Given the description of an element on the screen output the (x, y) to click on. 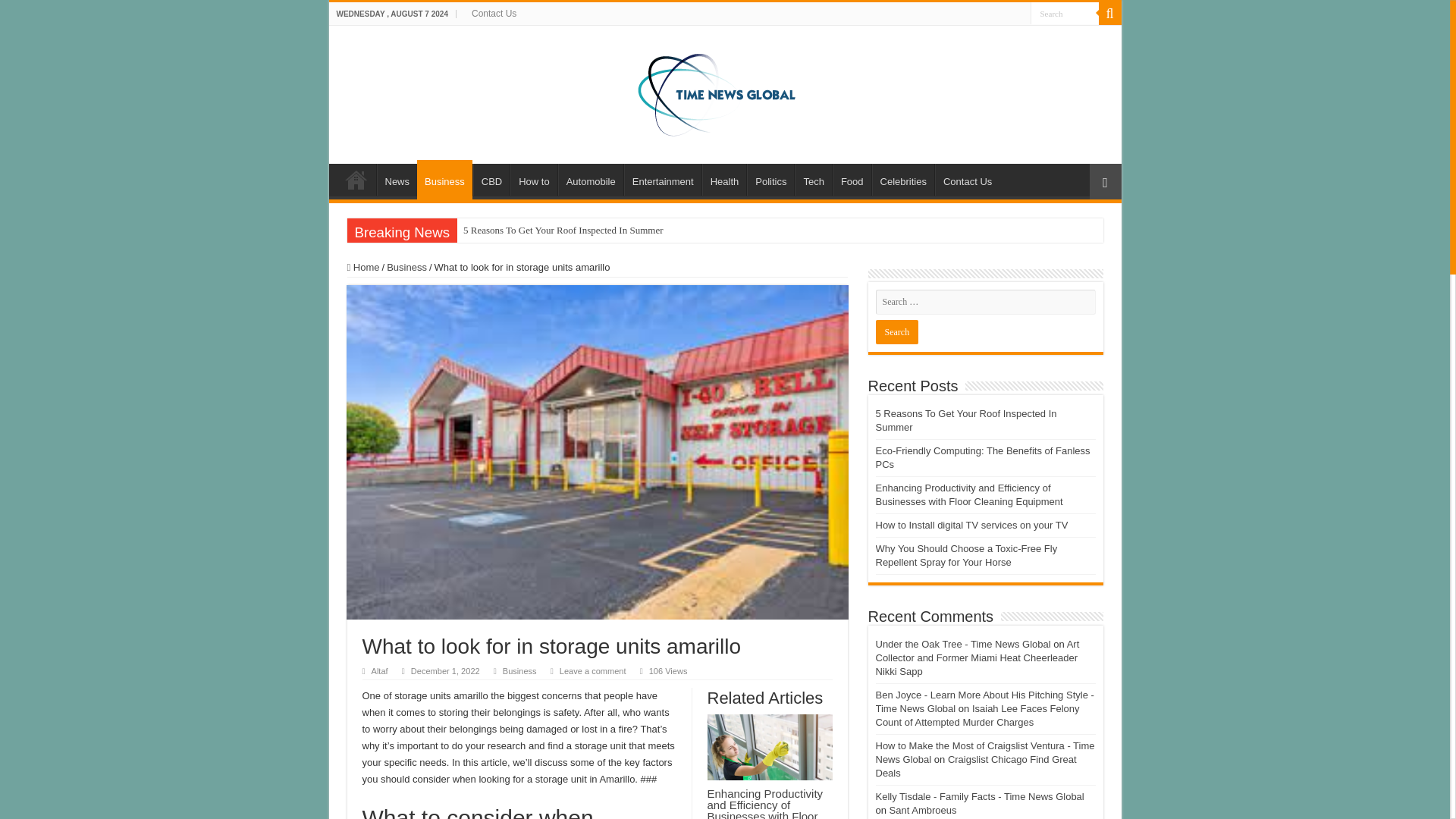
Time News Global (725, 91)
Food (851, 179)
Business (443, 179)
News (395, 179)
Search (1063, 13)
Contact Us (966, 179)
Automobile (590, 179)
Tech (812, 179)
Entertainment (662, 179)
Search (1063, 13)
5 Reasons To Get Your Roof Inspected In Summer (563, 230)
Search (896, 331)
Contact Us (494, 13)
CBD (491, 179)
Celebrities (903, 179)
